Given the description of an element on the screen output the (x, y) to click on. 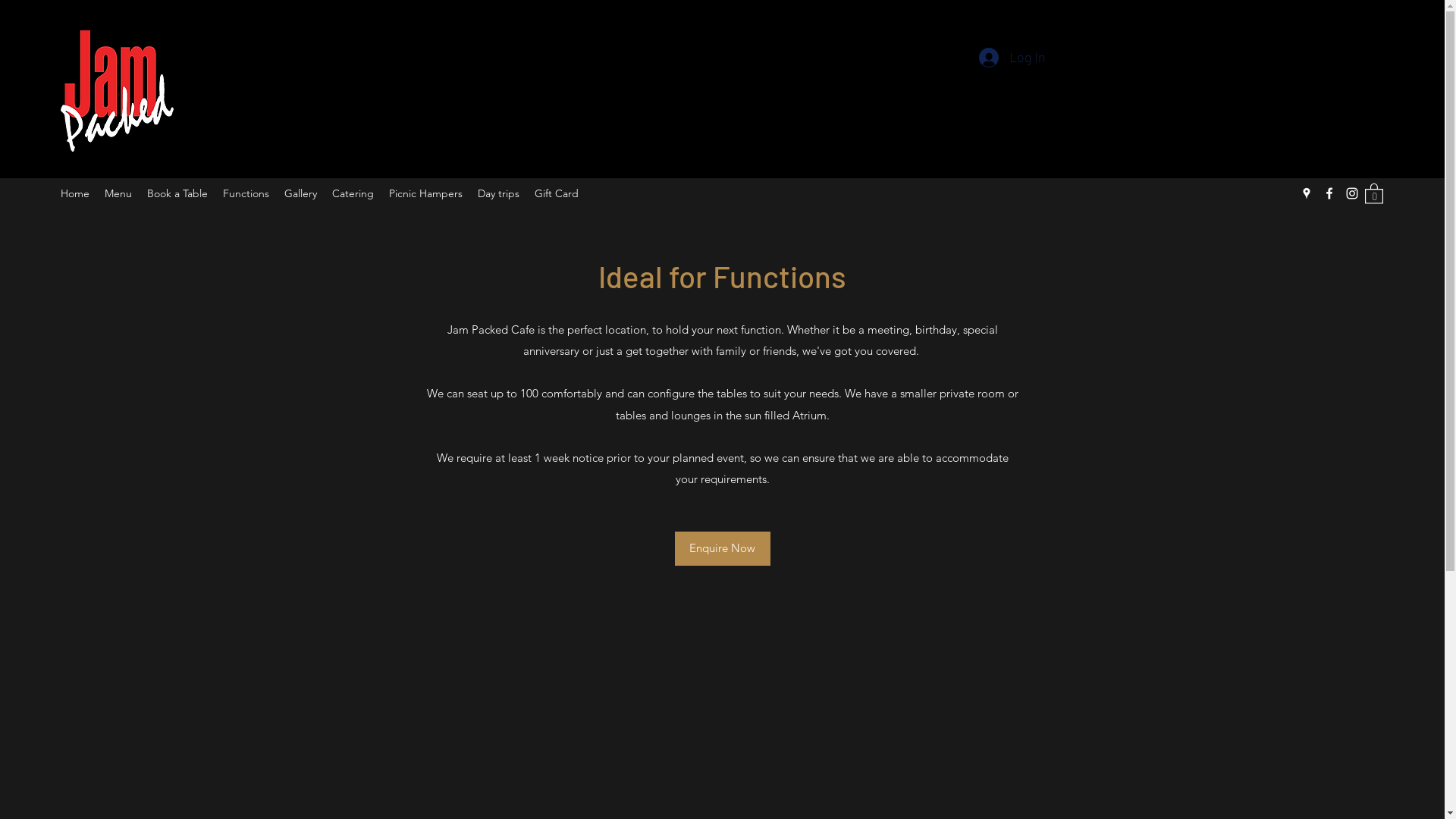
Gift Card Element type: text (556, 193)
Gallery Element type: text (300, 193)
Picnic Hampers Element type: text (425, 193)
0 Element type: text (1374, 192)
Functions Element type: text (245, 193)
Catering Element type: text (352, 193)
Menu Element type: text (118, 193)
Enquire Now Element type: text (722, 548)
Day trips Element type: text (498, 193)
Home Element type: text (75, 193)
Book a Table Element type: text (177, 193)
Log In Element type: text (1011, 57)
